Given the description of an element on the screen output the (x, y) to click on. 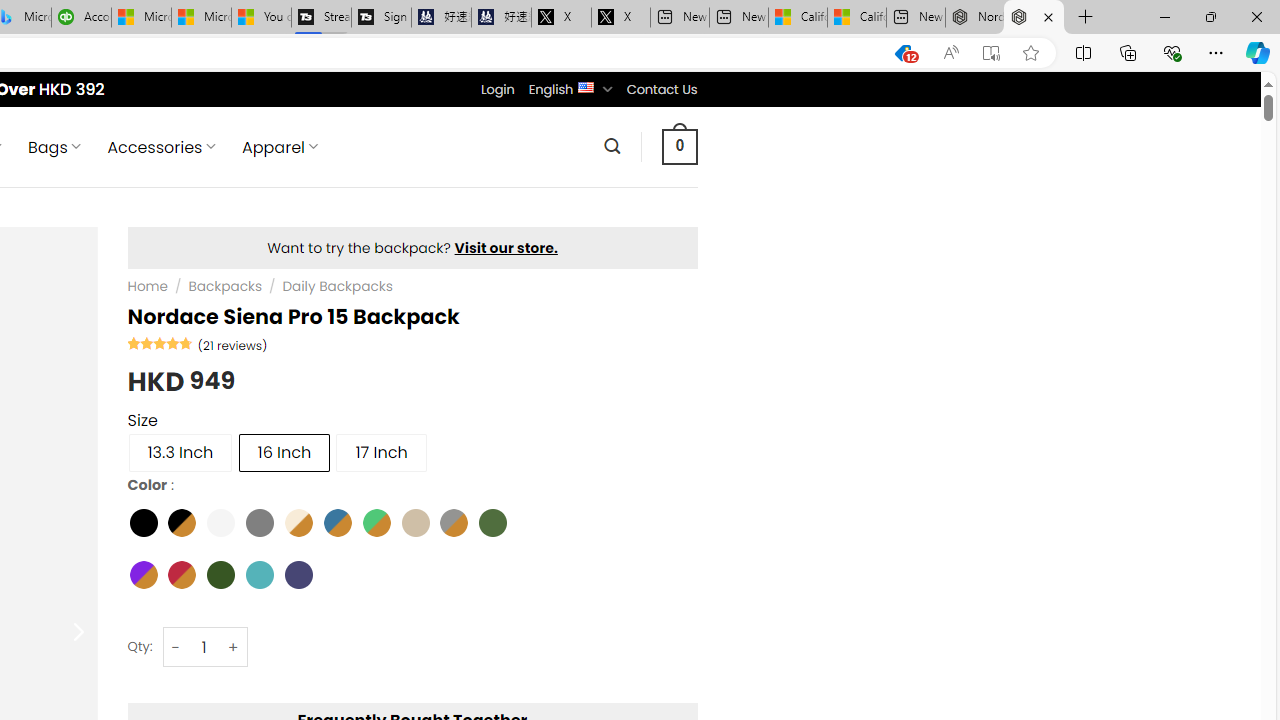
Visit our store. (506, 247)
- (175, 647)
This site has coupons! Shopping in Microsoft Edge, 12 (902, 53)
Login (497, 89)
Backpacks (225, 286)
Rated 4.70 out of 5 (160, 342)
17 Inch (381, 452)
